Given the description of an element on the screen output the (x, y) to click on. 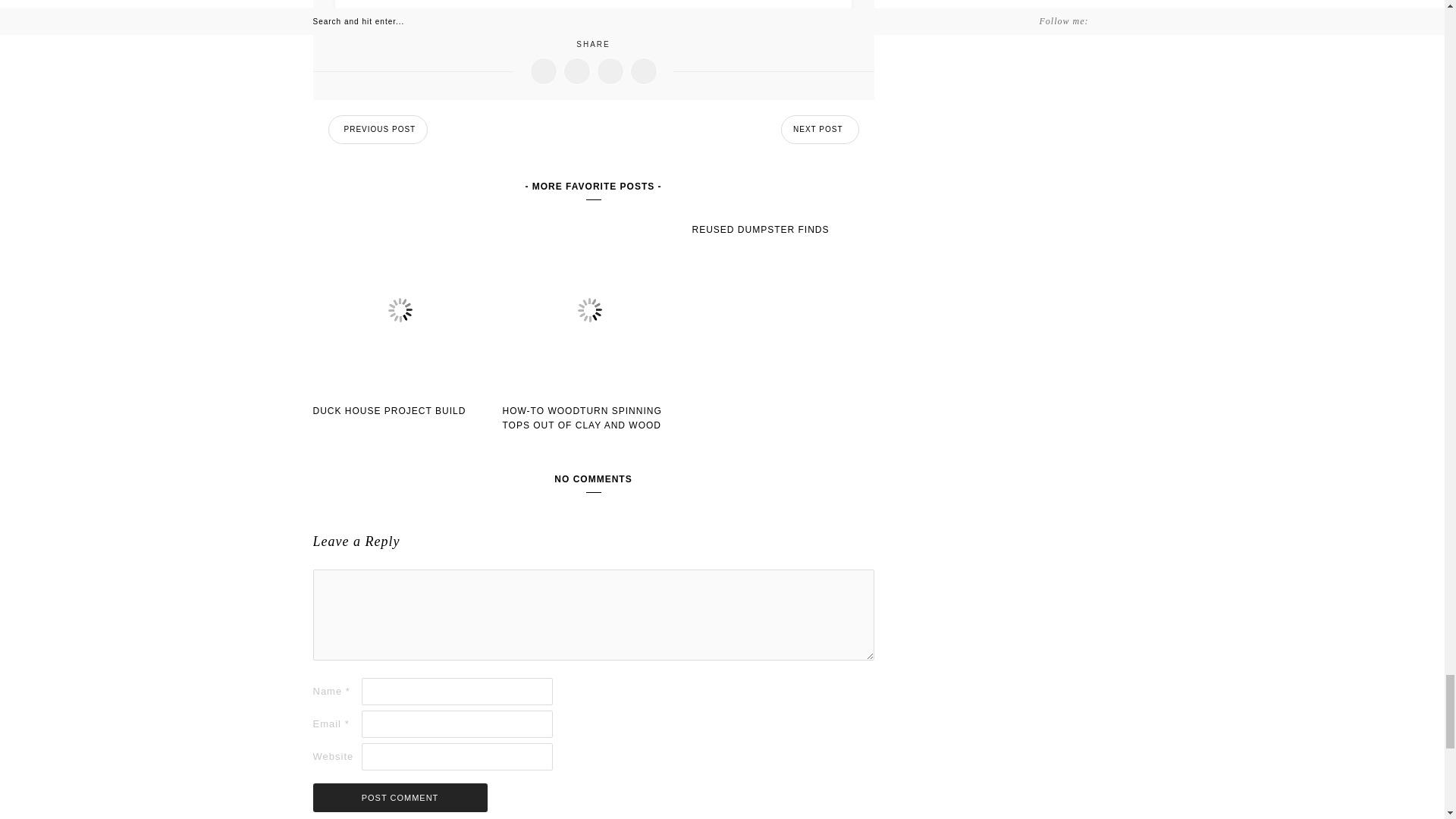
Post Comment (399, 797)
